Given the description of an element on the screen output the (x, y) to click on. 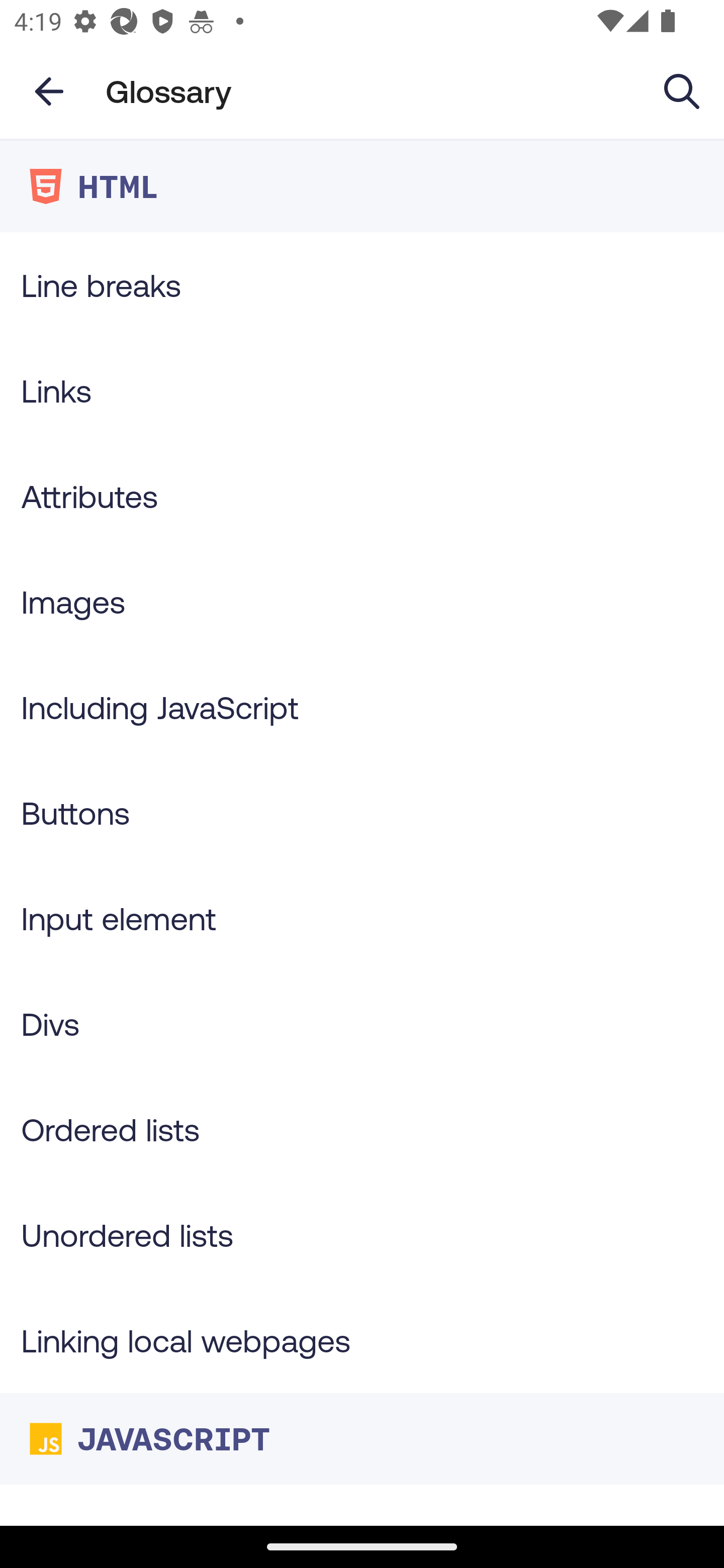
Navigate up (49, 91)
Search Glossary (681, 90)
HTML (362, 186)
Line breaks (362, 284)
Links (362, 390)
Attributes (362, 495)
Images (362, 600)
Including JavaScript (362, 706)
Buttons (362, 812)
Input element (362, 917)
Divs (362, 1023)
Ordered lists (362, 1129)
Unordered lists (362, 1234)
Linking local webpages (362, 1339)
JAVASCRIPT (362, 1438)
